Given the description of an element on the screen output the (x, y) to click on. 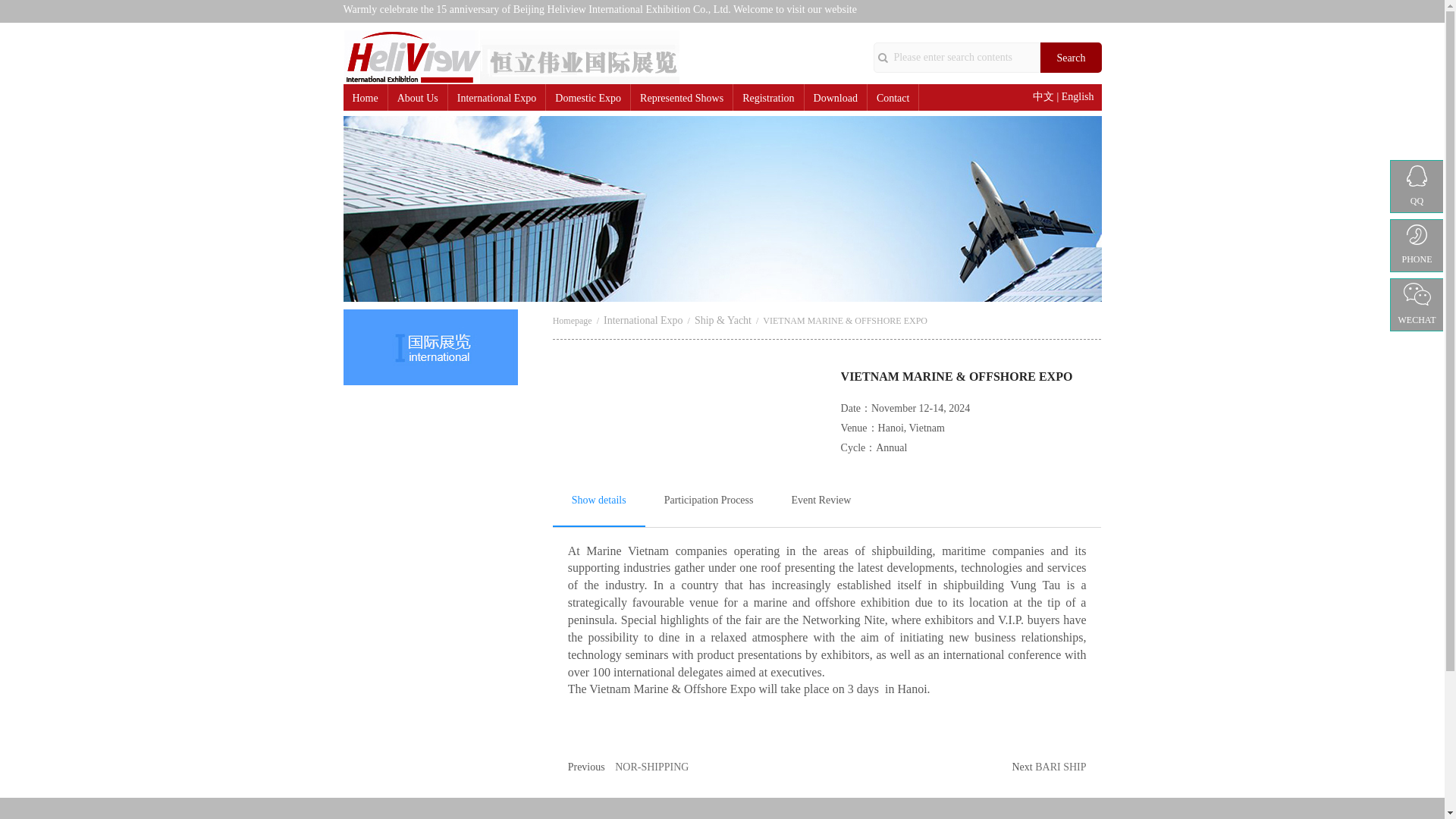
About Us (417, 98)
PHONE (1416, 245)
QQ (1416, 186)
Home (364, 98)
Domestic Expo (587, 98)
Represented Shows (681, 98)
International Expo (497, 98)
